Given the description of an element on the screen output the (x, y) to click on. 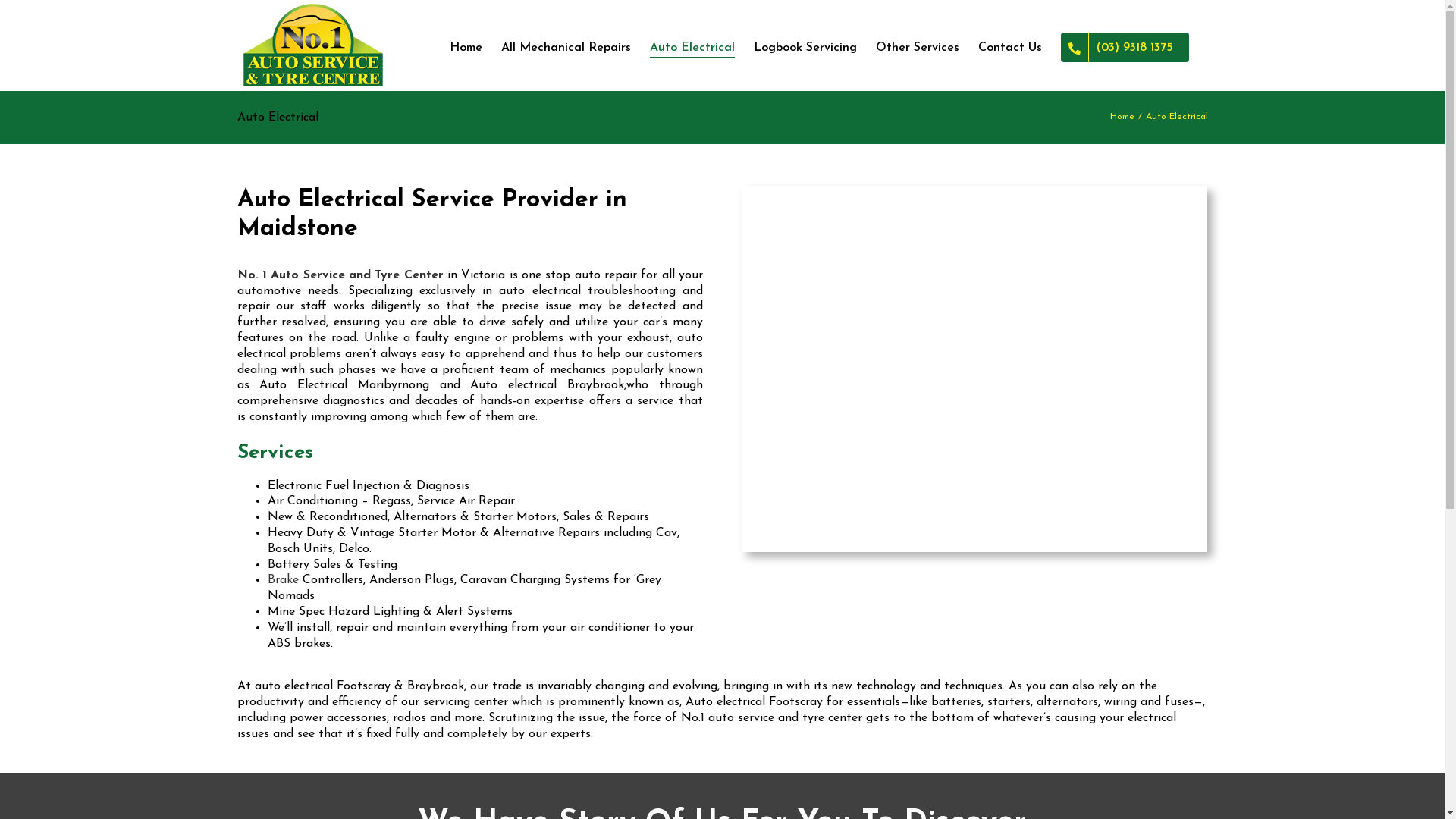
Contact Us Element type: text (1009, 47)
Logbook Servicing Element type: text (804, 47)
Brake Element type: text (282, 580)
Home Element type: text (464, 47)
All Mechanical Repairs Element type: text (565, 47)
Auto Electrical Element type: text (691, 47)
Home Element type: text (1122, 116)
No. 1 Auto Service and Tyre Center Element type: text (339, 275)
Auto Electrical Element type: hover (974, 368)
(03) 9318 1375 Element type: text (1124, 47)
Other Services Element type: text (916, 47)
